Given the description of an element on the screen output the (x, y) to click on. 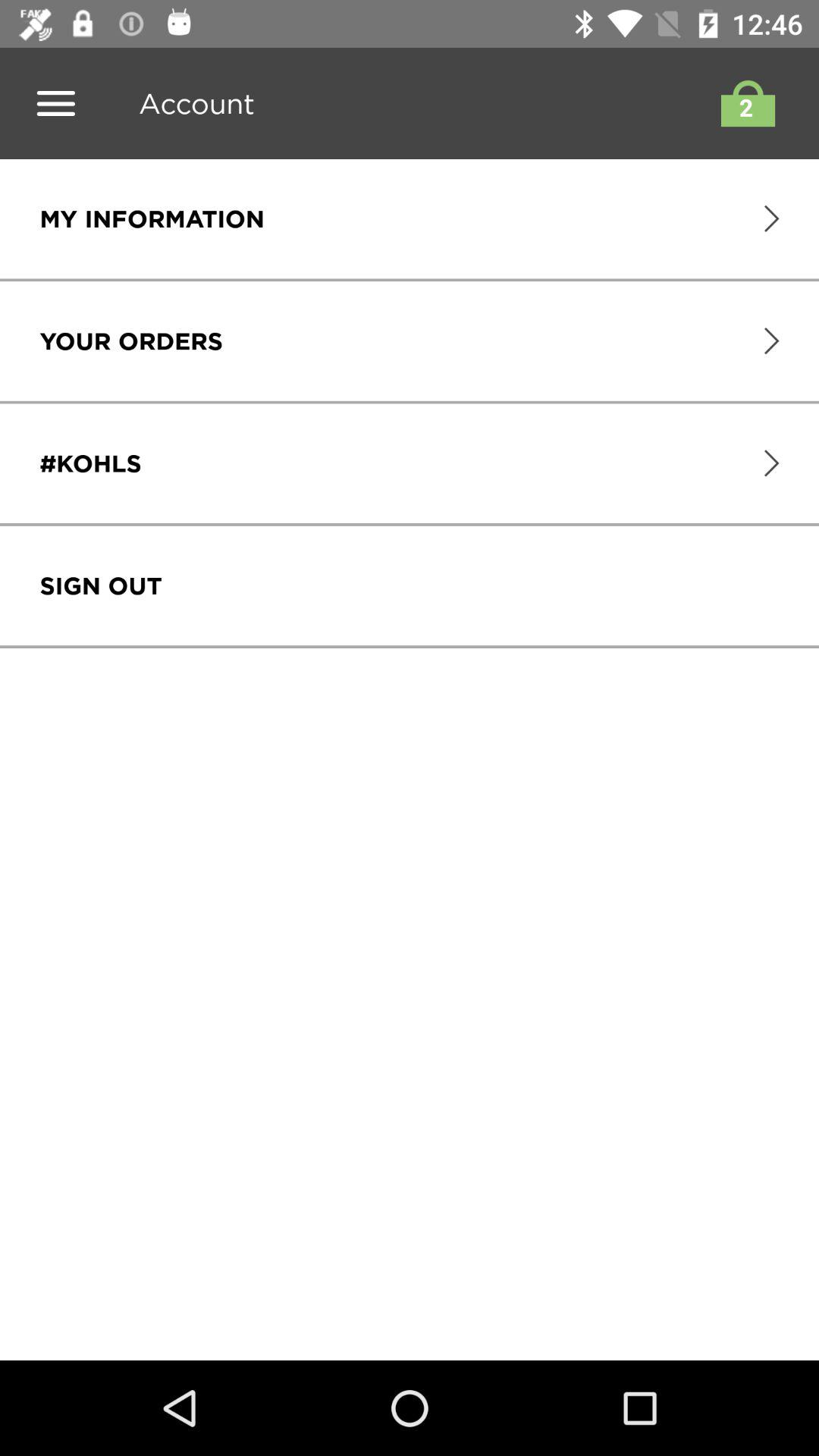
turn on the account item (190, 103)
